Given the description of an element on the screen output the (x, y) to click on. 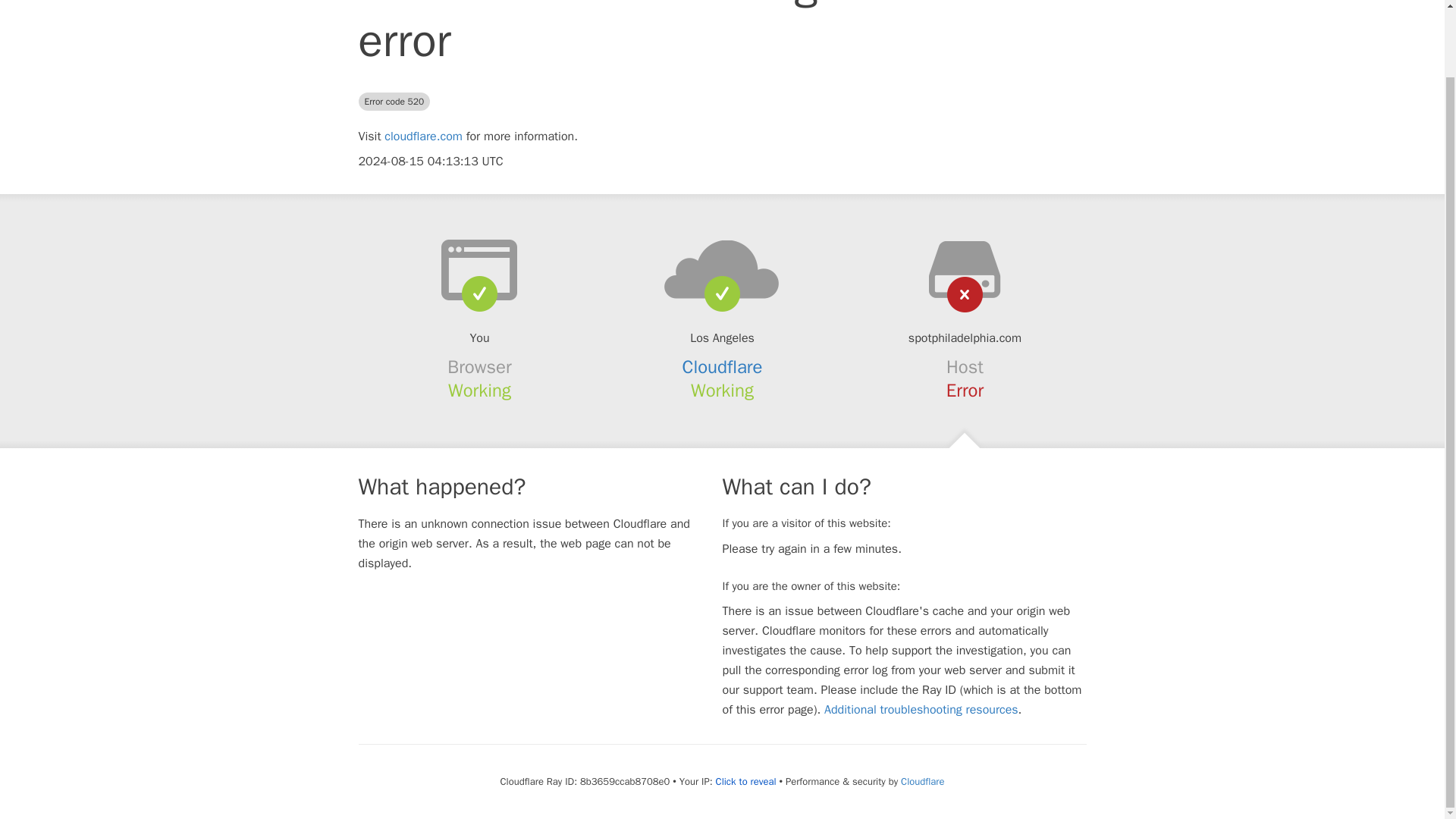
Additional troubleshooting resources (920, 709)
cloudflare.com (423, 136)
Cloudflare (722, 366)
Click to reveal (746, 781)
Cloudflare (922, 780)
